Given the description of an element on the screen output the (x, y) to click on. 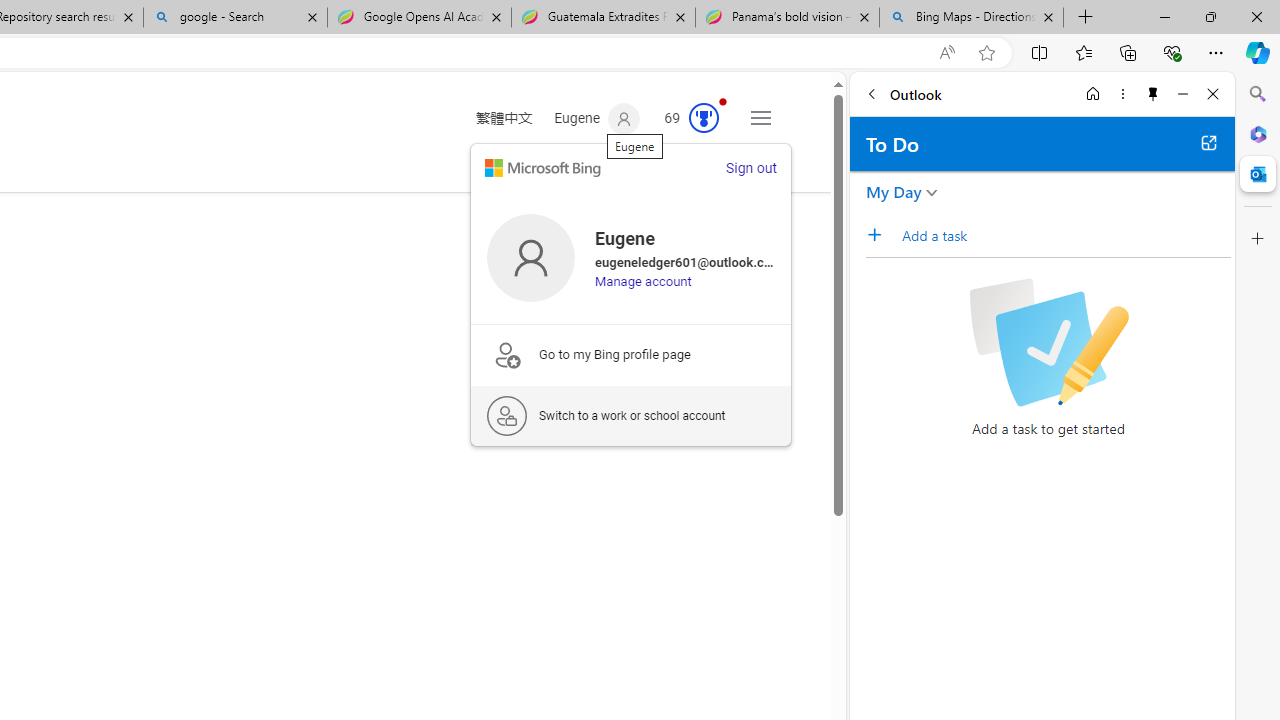
Go to my Bing profile page (631, 354)
